Given the description of an element on the screen output the (x, y) to click on. 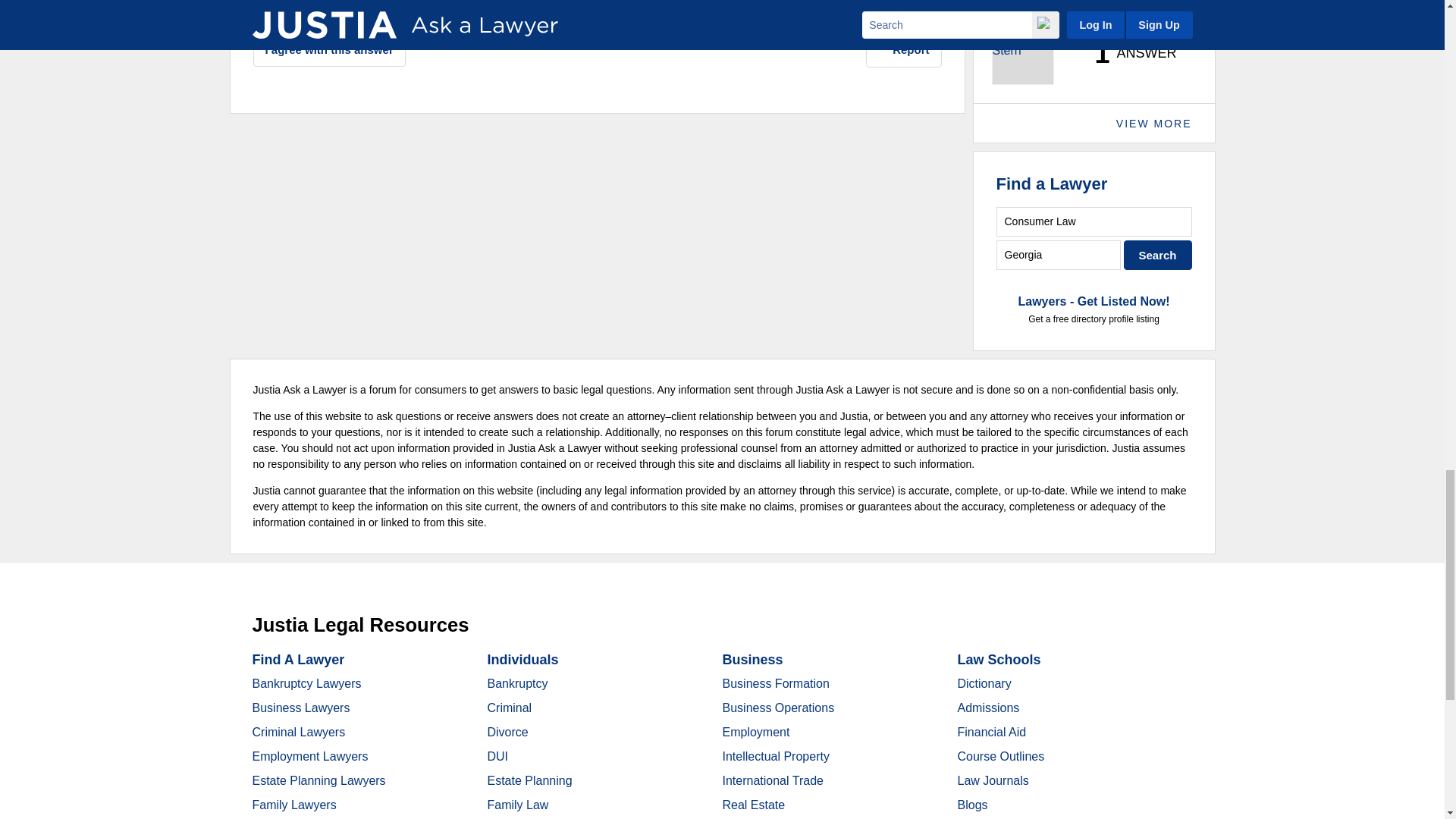
Legal Issue or Lawyer Name (1093, 221)
Consumer Law (1093, 221)
Georgia (1058, 255)
Ask a Lawyer - Leaderboard - Lawyer Photo (1021, 53)
Ask a Lawyer - Leaderboard - Lawyer Stats (1127, 53)
Ask a Lawyer - Leaderboard - Lawyer Name (1039, 8)
City, State (1058, 255)
Search (1158, 255)
Search (1158, 255)
